Given the description of an element on the screen output the (x, y) to click on. 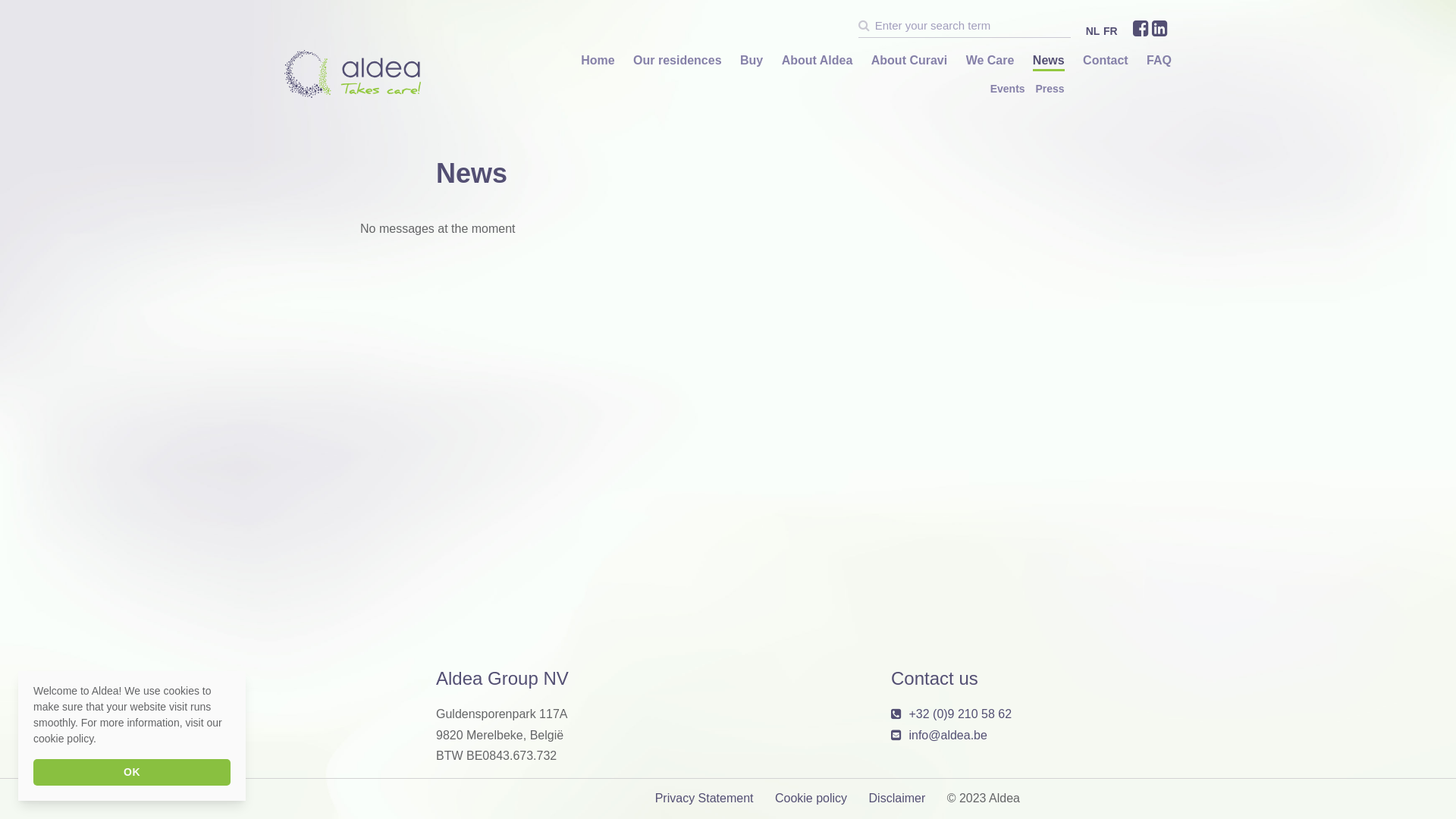
OK Element type: text (131, 772)
Privacy Statement Element type: text (704, 797)
NL Element type: text (1092, 31)
Contact Element type: text (1105, 60)
About Aldea Element type: text (817, 60)
We Care Element type: text (990, 60)
About Curavi Element type: text (909, 60)
Our residences Element type: text (677, 60)
Buy Element type: text (751, 60)
Disclaimer Element type: text (897, 797)
FR Element type: text (1110, 31)
+32 (0)9 210 58 62 Element type: text (959, 713)
Cookie policy Element type: text (811, 797)
Home Element type: text (597, 60)
Press Element type: text (1049, 88)
News Element type: text (1048, 60)
FAQ Element type: text (1158, 60)
info@aldea.be Element type: text (947, 734)
Events Element type: text (1007, 88)
